Given the description of an element on the screen output the (x, y) to click on. 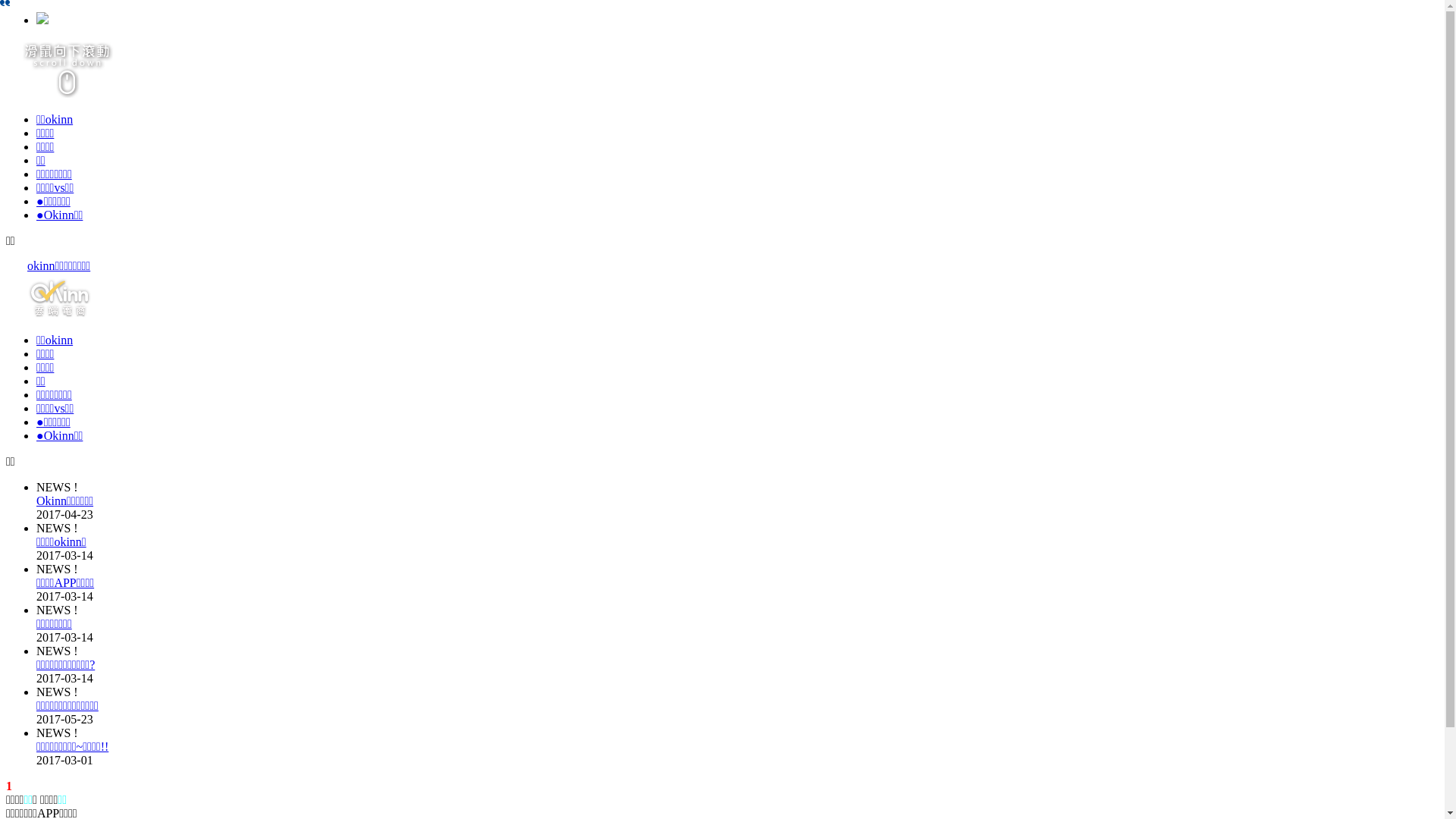
1 Element type: text (9, 785)
